Given the description of an element on the screen output the (x, y) to click on. 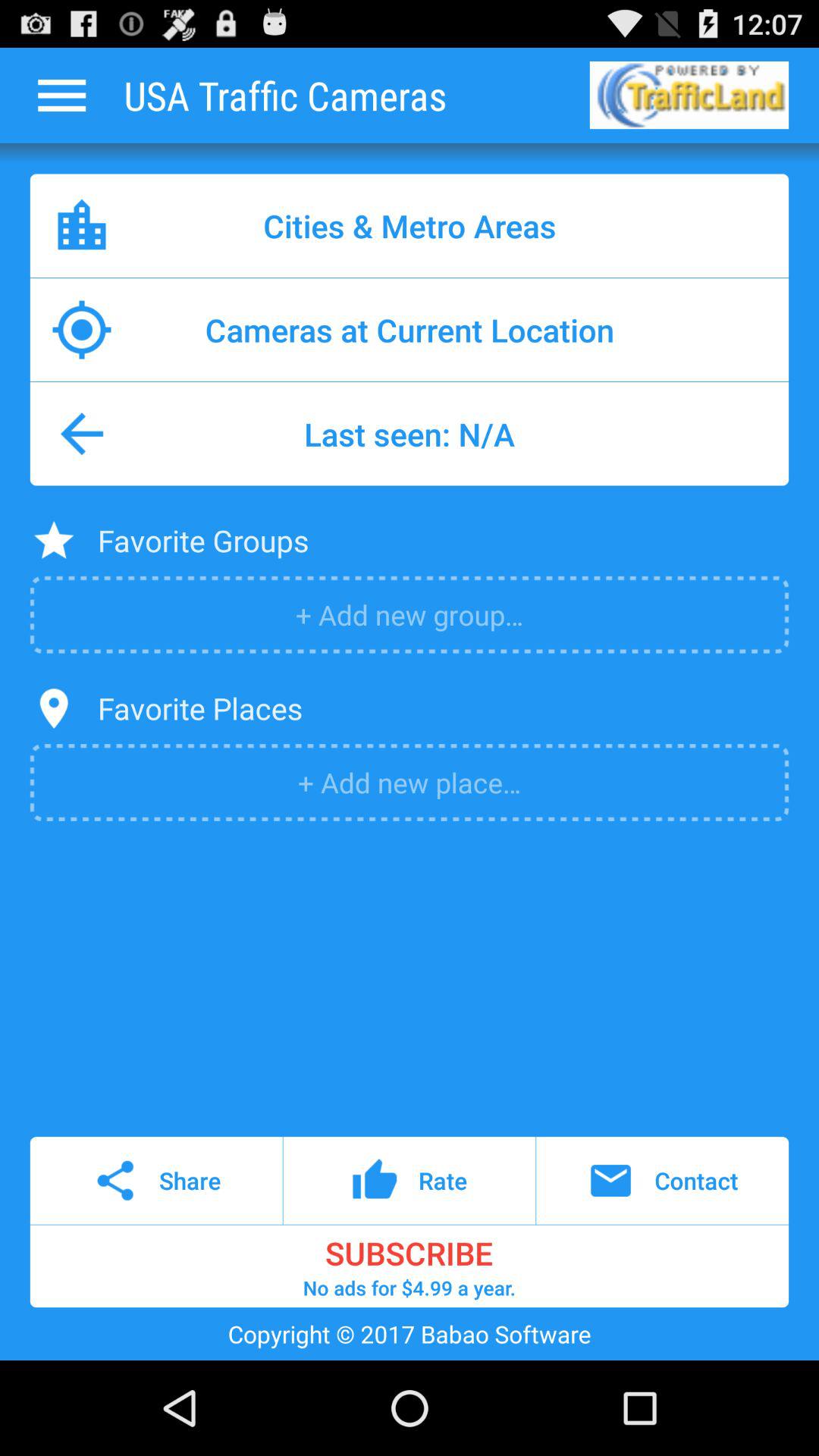
turn on icon next to usa traffic cameras icon (61, 95)
